Given the description of an element on the screen output the (x, y) to click on. 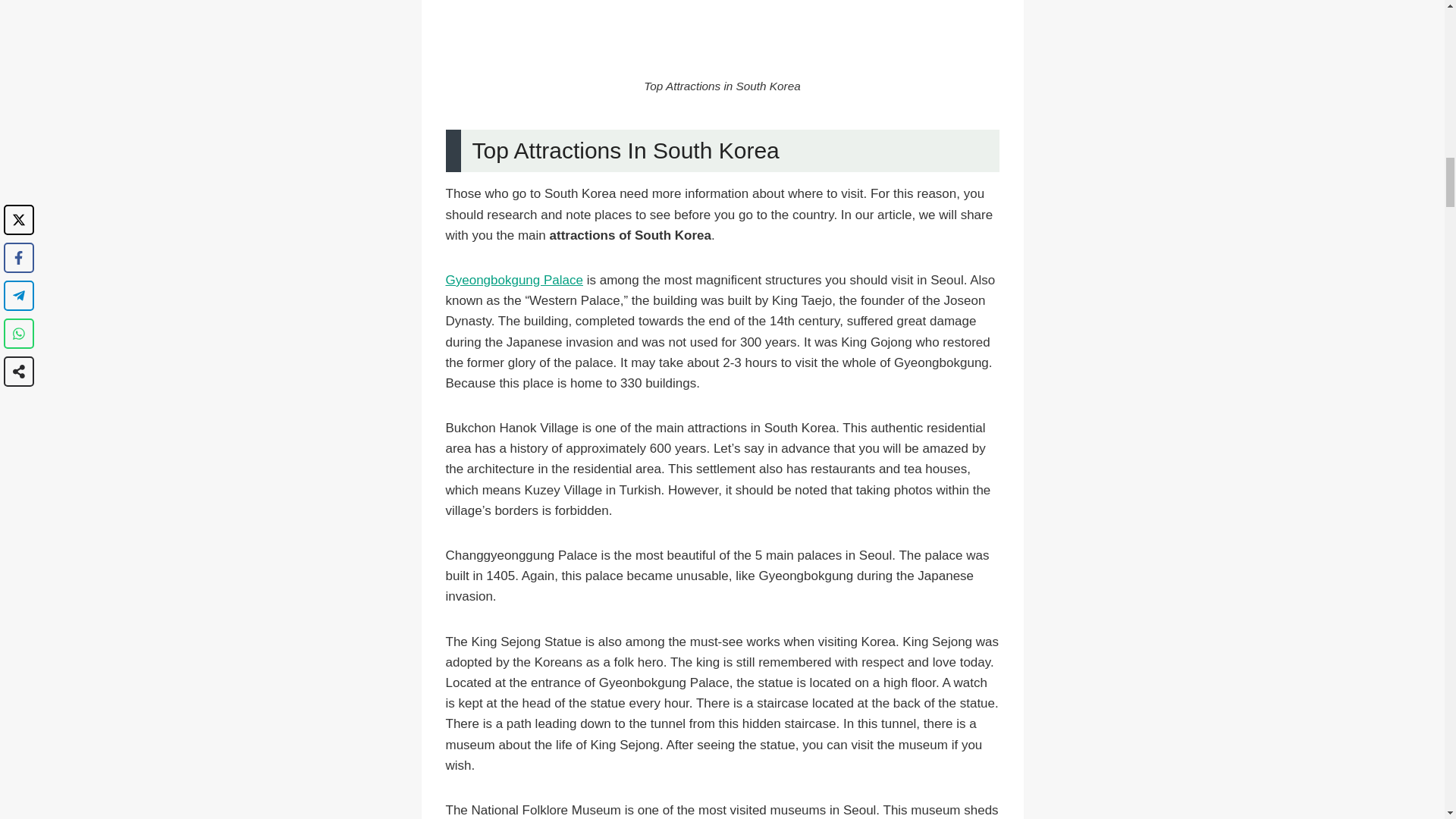
Gyeongbokgung Palace (514, 279)
